Given the description of an element on the screen output the (x, y) to click on. 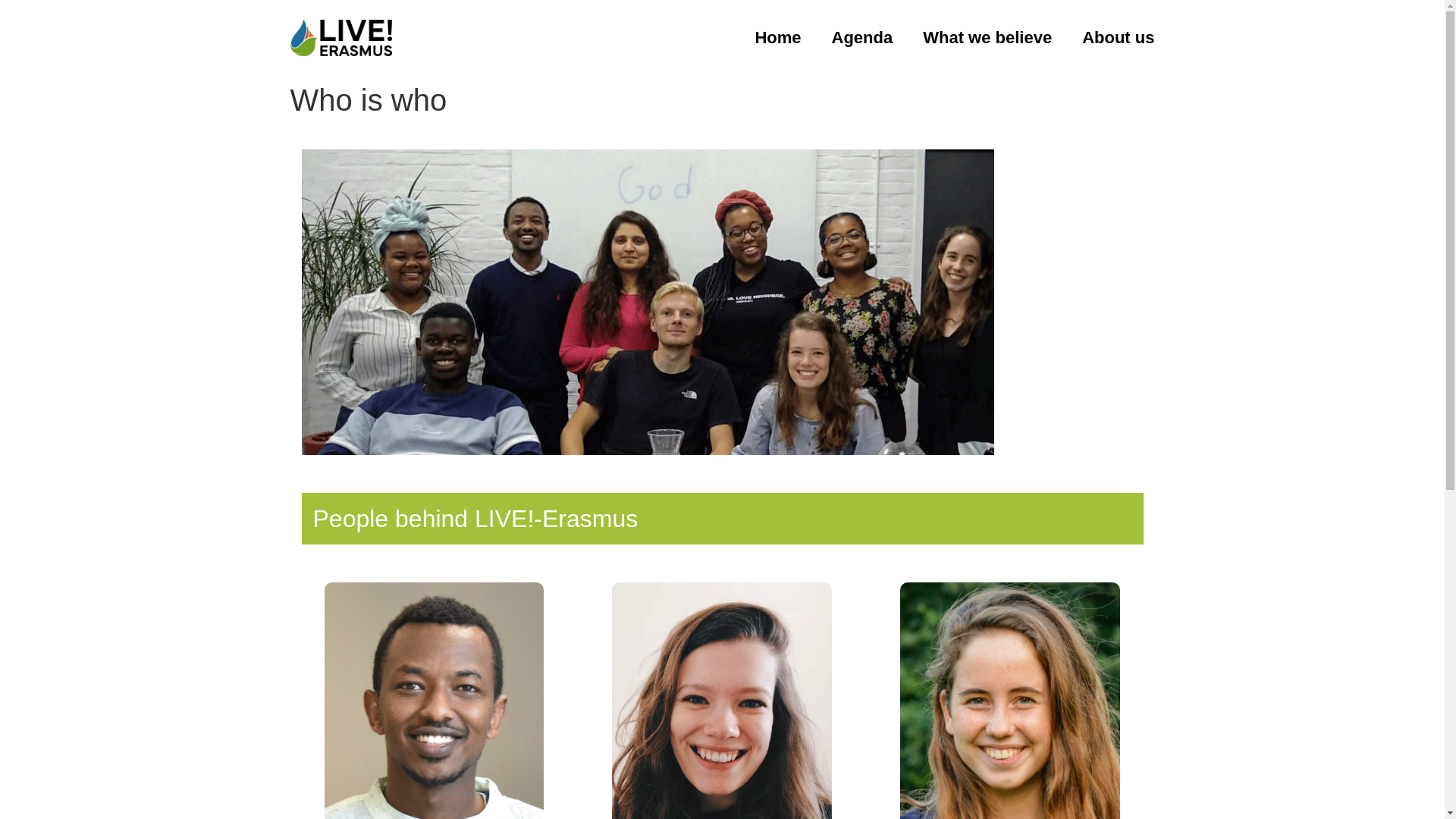
About us (1118, 37)
What we believe (987, 37)
Home (777, 37)
Agenda (862, 37)
